Given the description of an element on the screen output the (x, y) to click on. 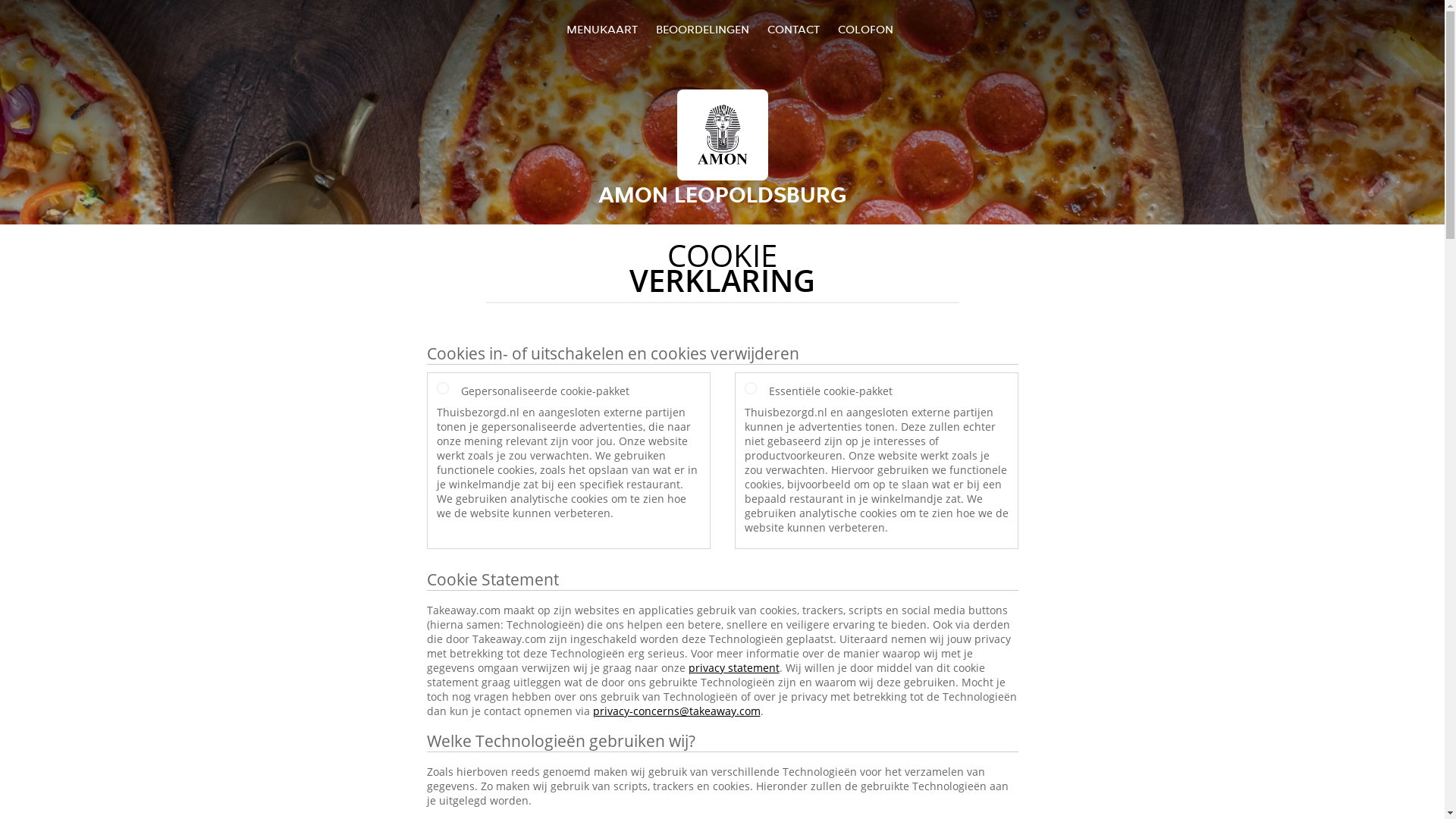
BEOORDELINGEN Element type: text (702, 29)
privacy statement Element type: text (733, 667)
COLOFON Element type: text (865, 29)
MENUKAART Element type: text (601, 29)
privacy-concerns@takeaway.com Element type: text (676, 710)
CONTACT Element type: text (793, 29)
